Given the description of an element on the screen output the (x, y) to click on. 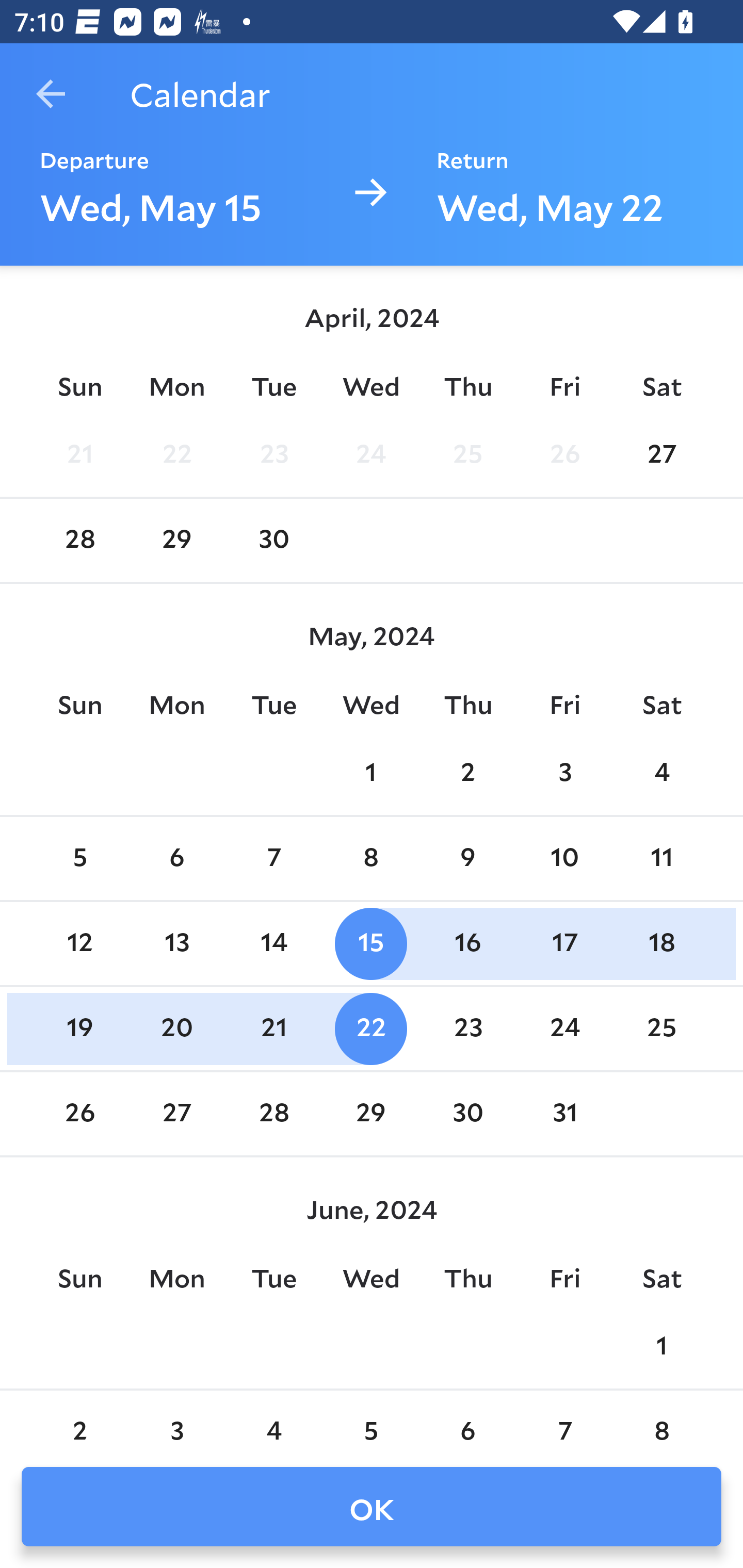
Navigate up (50, 93)
21 (79, 454)
22 (177, 454)
23 (273, 454)
24 (371, 454)
25 (467, 454)
26 (565, 454)
27 (661, 454)
28 (79, 540)
29 (177, 540)
30 (273, 540)
1 (371, 772)
2 (467, 772)
3 (565, 772)
4 (661, 772)
5 (79, 859)
6 (177, 859)
7 (273, 859)
8 (371, 859)
9 (467, 859)
10 (565, 859)
11 (661, 859)
12 (79, 943)
13 (177, 943)
14 (273, 943)
15 (371, 943)
16 (467, 943)
17 (565, 943)
18 (661, 943)
19 (79, 1028)
20 (177, 1028)
21 (273, 1028)
22 (371, 1028)
23 (467, 1028)
24 (565, 1028)
25 (661, 1028)
26 (79, 1114)
27 (177, 1114)
28 (273, 1114)
29 (371, 1114)
30 (467, 1114)
31 (565, 1114)
1 (661, 1346)
2 (79, 1420)
3 (177, 1420)
4 (273, 1420)
5 (371, 1420)
6 (467, 1420)
7 (565, 1420)
8 (661, 1420)
